Given the description of an element on the screen output the (x, y) to click on. 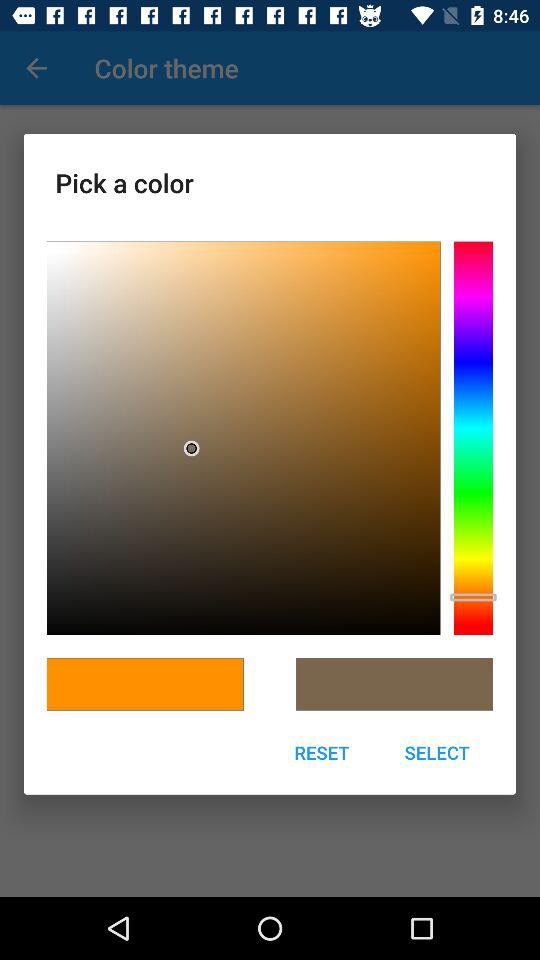
jump to the reset item (321, 752)
